Given the description of an element on the screen output the (x, y) to click on. 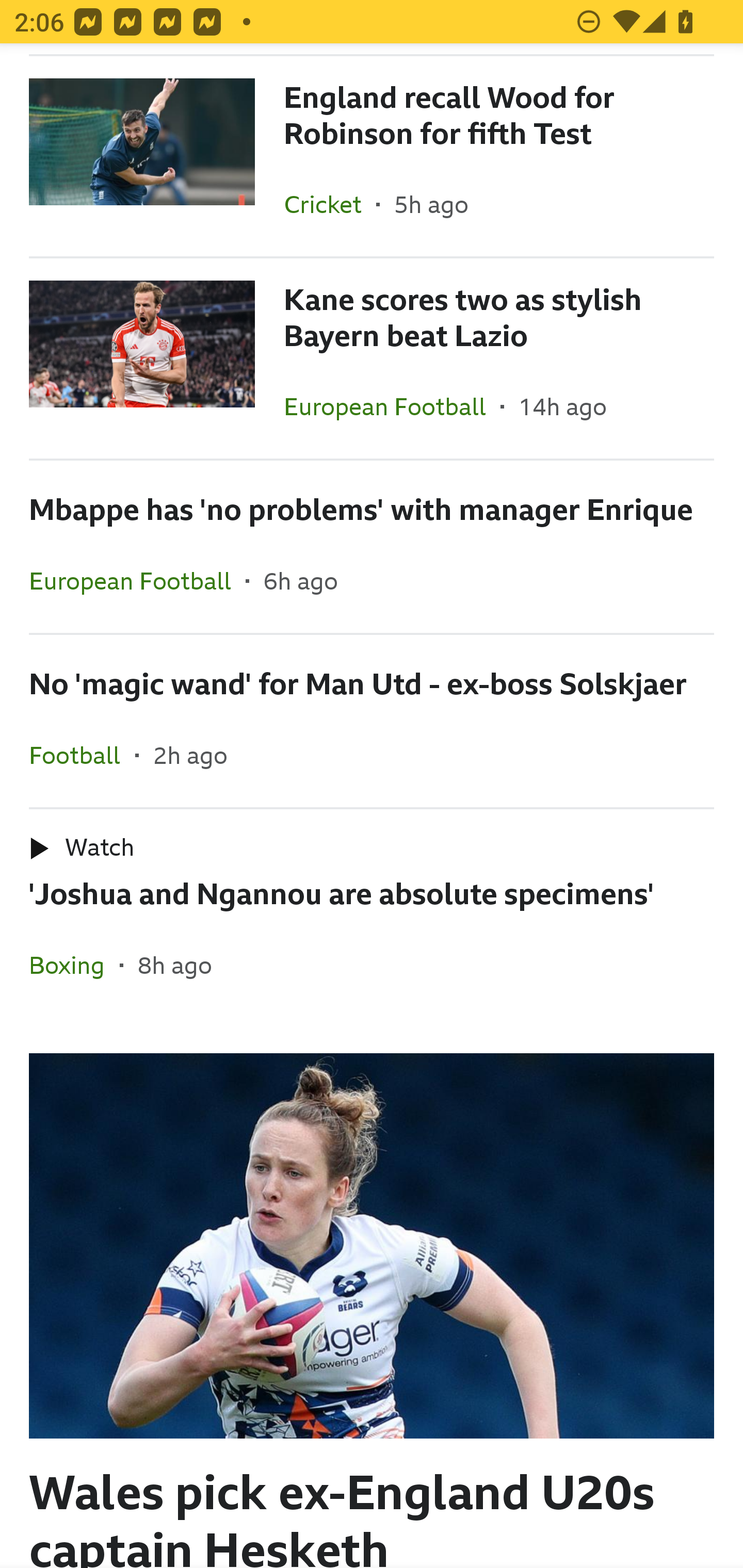
Cricket In the section Cricket (329, 203)
European Football In the section European Football (391, 405)
European Football In the section European Football (136, 580)
Football In the section Football (81, 754)
Boxing In the section Boxing (73, 964)
Wales pick ex-England U20s captain Hesketh (371, 1292)
